Given the description of an element on the screen output the (x, y) to click on. 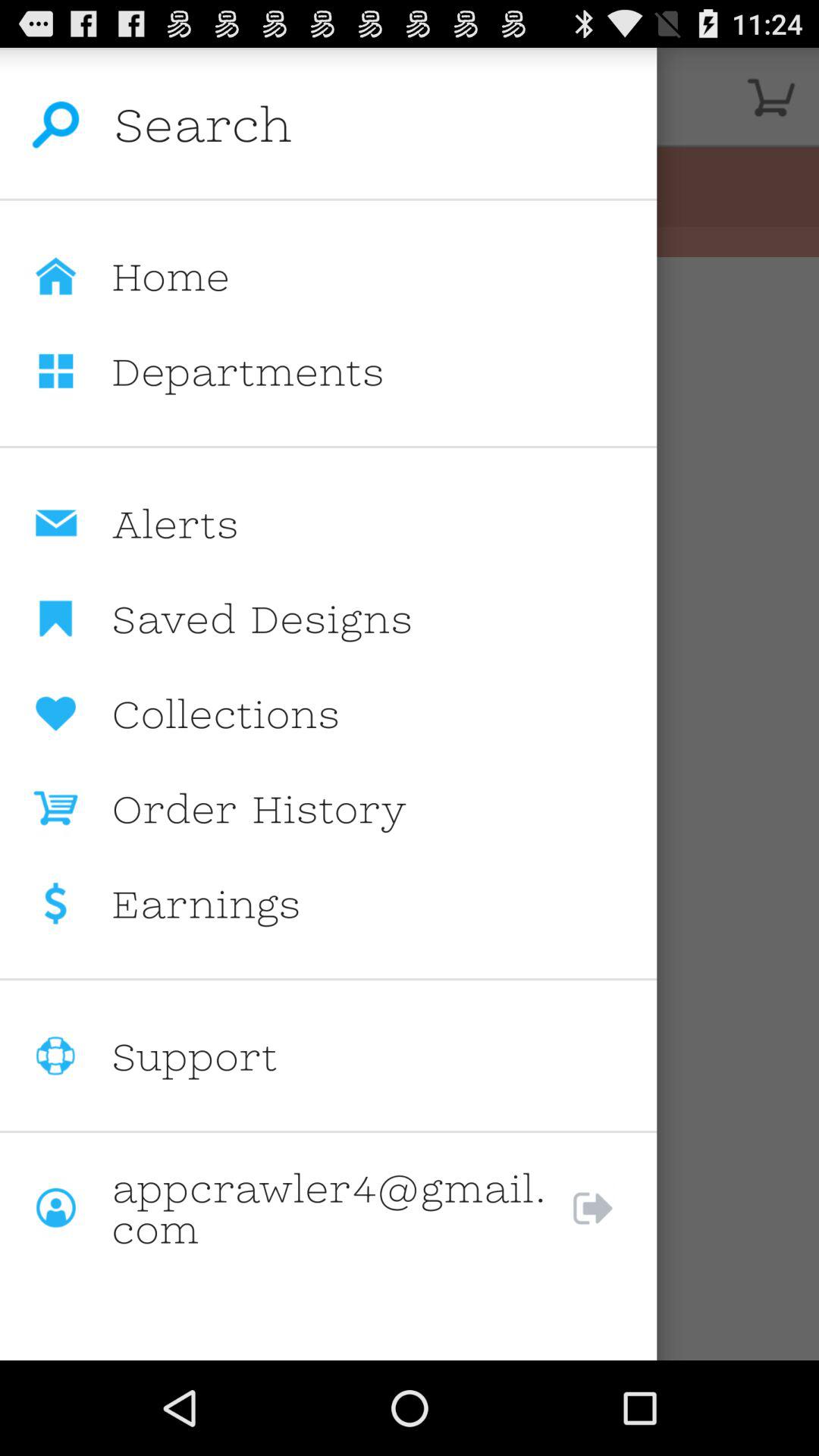
select the image on the top right corner (771, 97)
click on the arrow symbol which is on the left side of appcrawler4gmailcom (608, 1208)
